Given the description of an element on the screen output the (x, y) to click on. 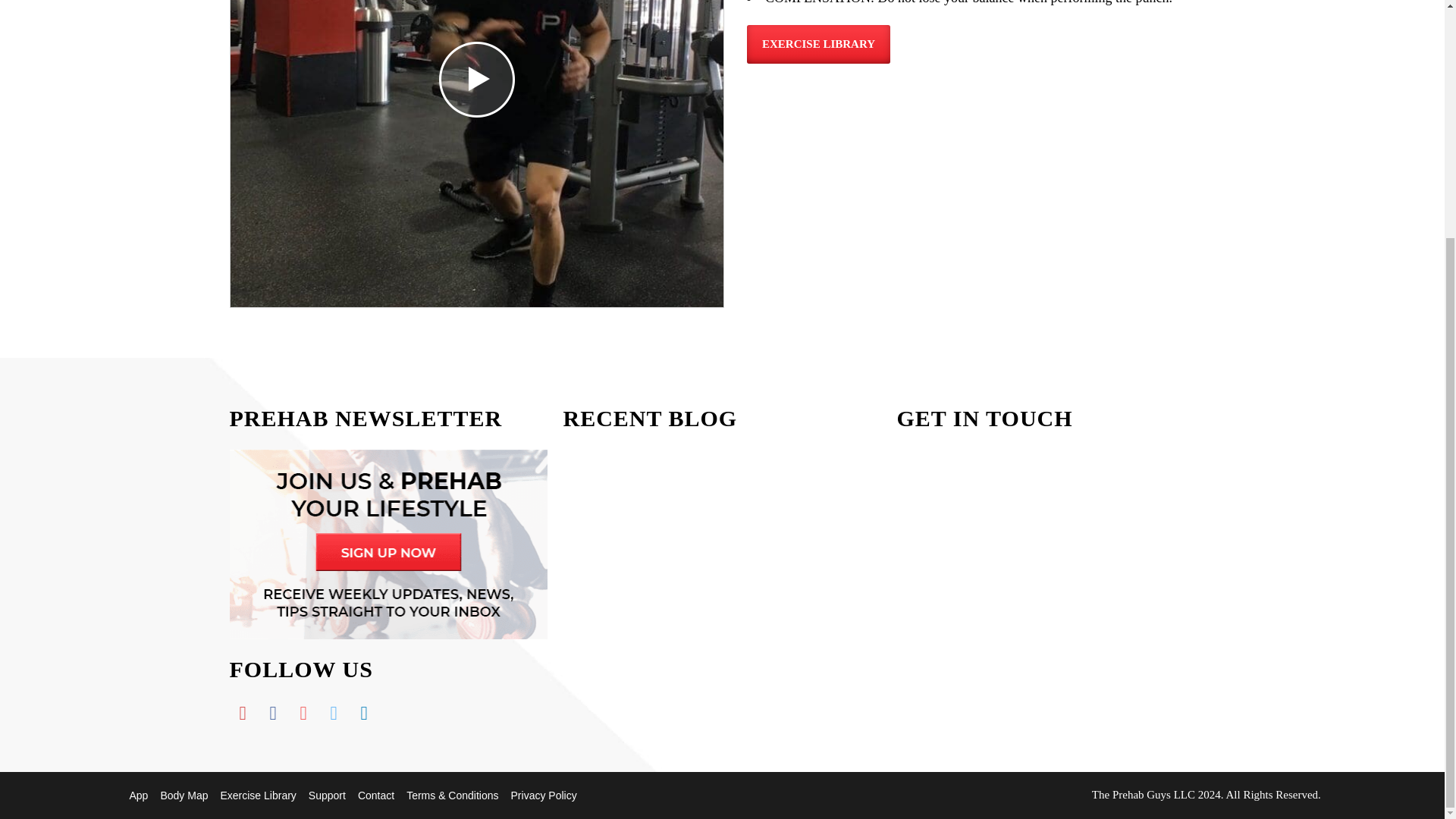
Form 0 (1055, 581)
